Given the description of an element on the screen output the (x, y) to click on. 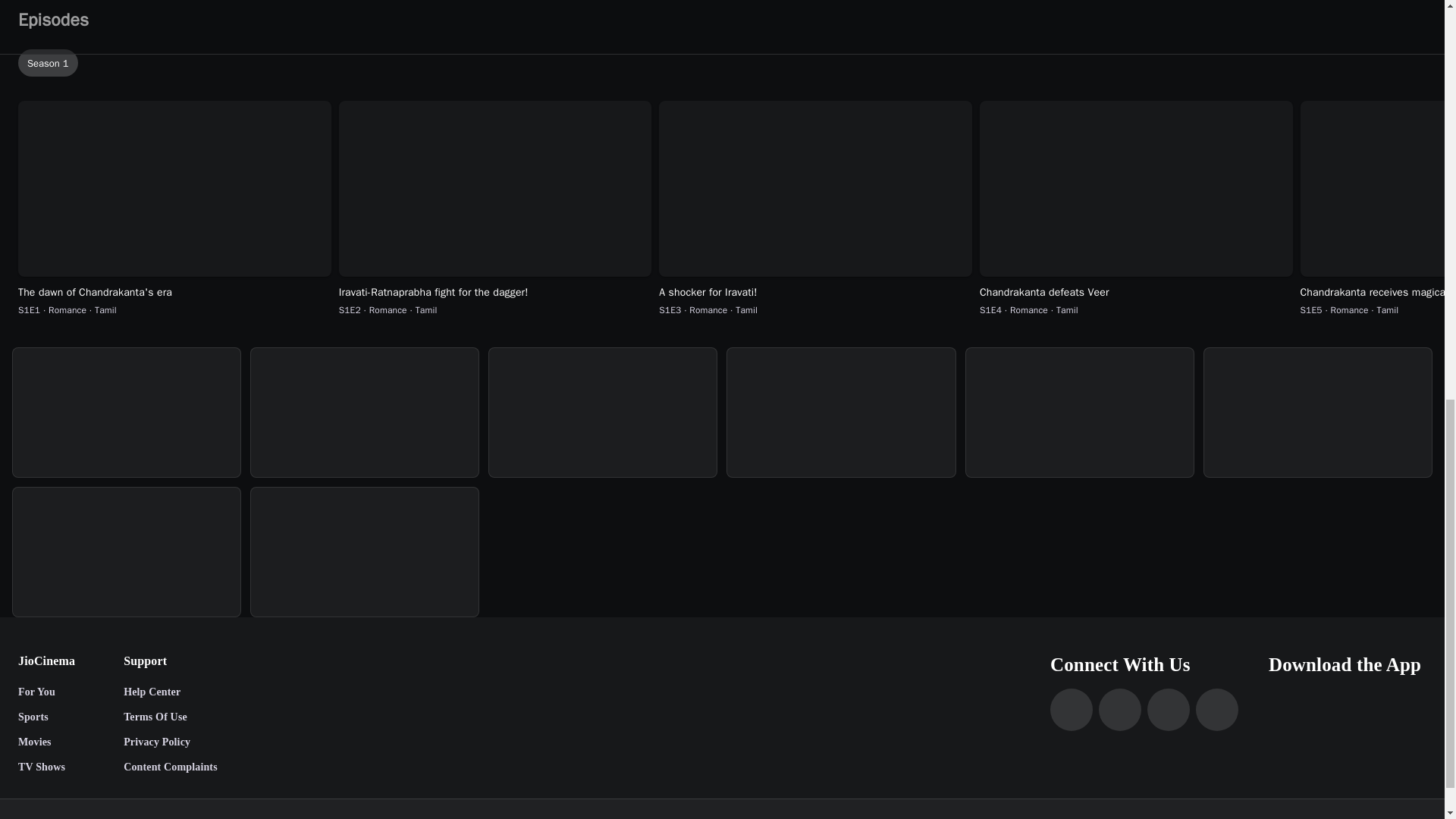
TV Shows (46, 767)
Season 1 (724, 62)
Season 1 (47, 62)
Privacy Policy (169, 742)
Movies (46, 742)
Help Center (169, 692)
Terms Of Use (169, 717)
Season 1 (724, 62)
For You (46, 692)
Content Complaints (169, 767)
Sports (46, 717)
Download the App (1347, 664)
